Given the description of an element on the screen output the (x, y) to click on. 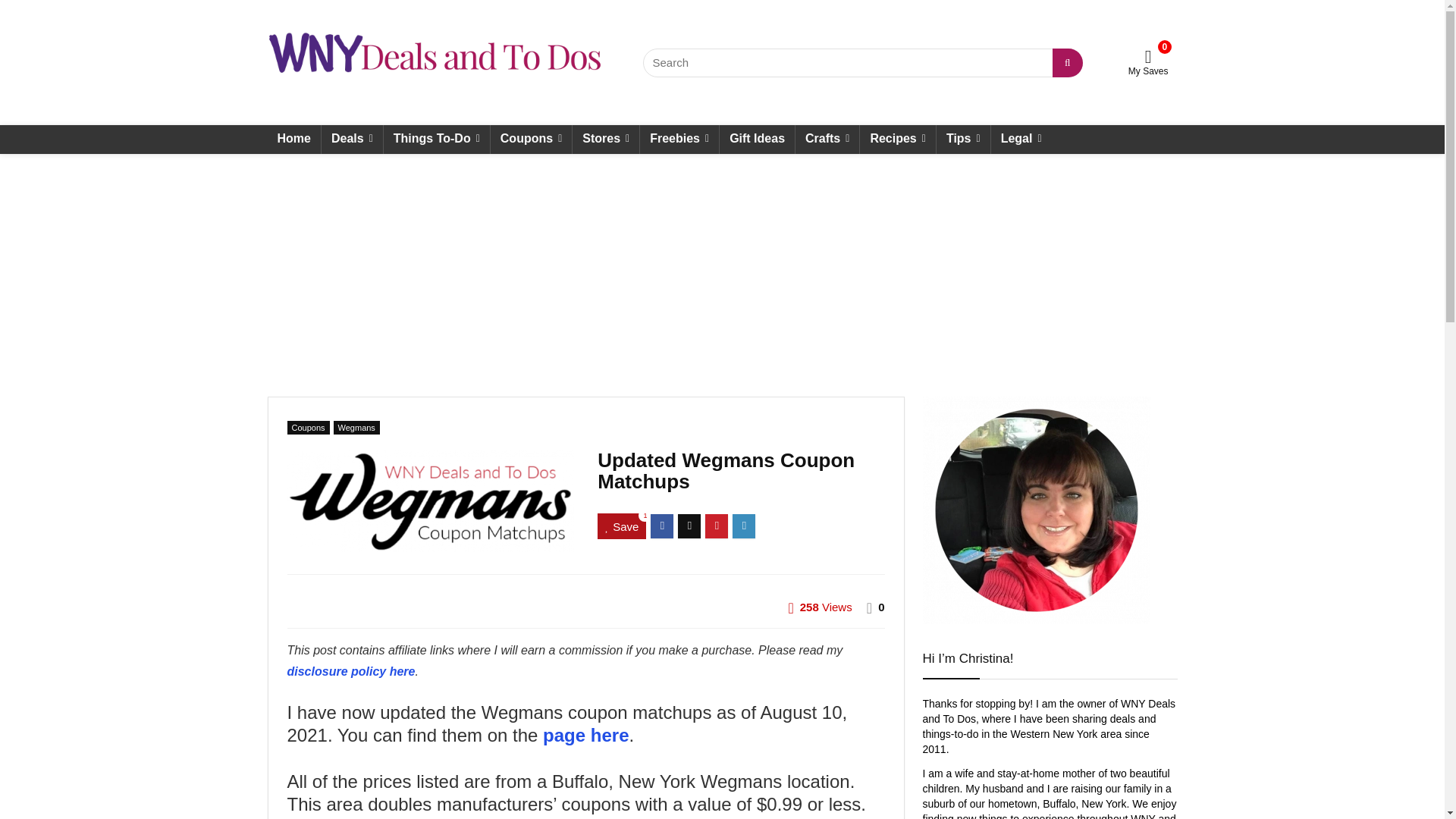
Deals (351, 139)
Things To-Do (436, 139)
Home (293, 139)
Coupons (531, 139)
View all posts in Wegmans (356, 427)
View all posts in Coupons (307, 427)
Stores (605, 139)
